Given the description of an element on the screen output the (x, y) to click on. 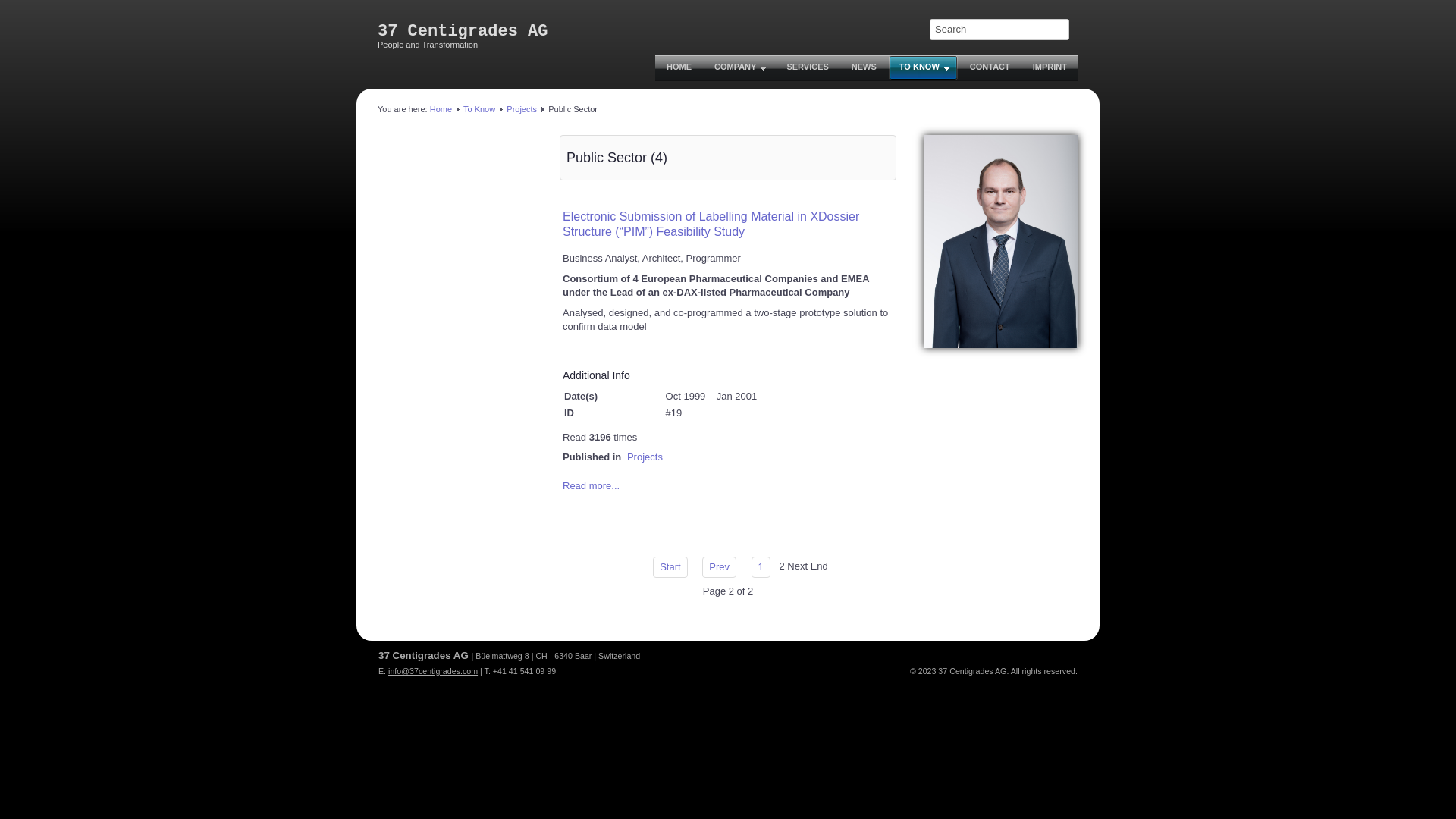
To Know Element type: text (479, 108)
NEWS Element type: text (864, 67)
TO KNOW Element type: text (923, 67)
COMPANY Element type: text (738, 67)
Projects Element type: text (644, 456)
Start Element type: text (669, 566)
Prev Element type: text (719, 566)
Home Element type: text (440, 108)
SERVICES Element type: text (807, 67)
Read more... Element type: text (590, 485)
37 Centigrades AG Element type: text (462, 30)
1 Element type: text (760, 566)
HOME Element type: text (678, 67)
IMPRINT Element type: text (1049, 67)
CONTACT Element type: text (989, 67)
info@37centigrades.com Element type: text (432, 670)
Projects Element type: text (521, 108)
